Given the description of an element on the screen output the (x, y) to click on. 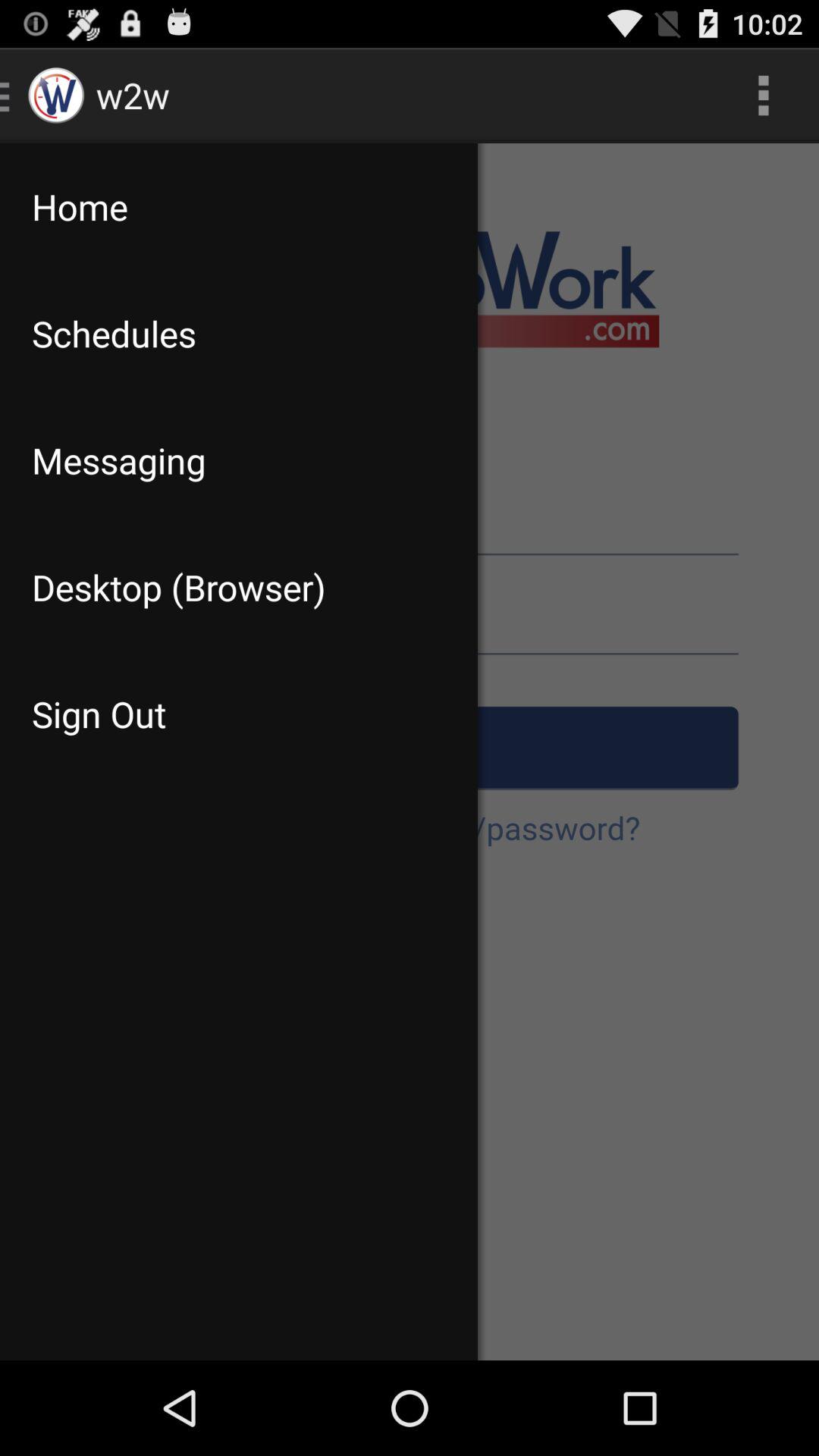
turn off app below the home icon (238, 333)
